Given the description of an element on the screen output the (x, y) to click on. 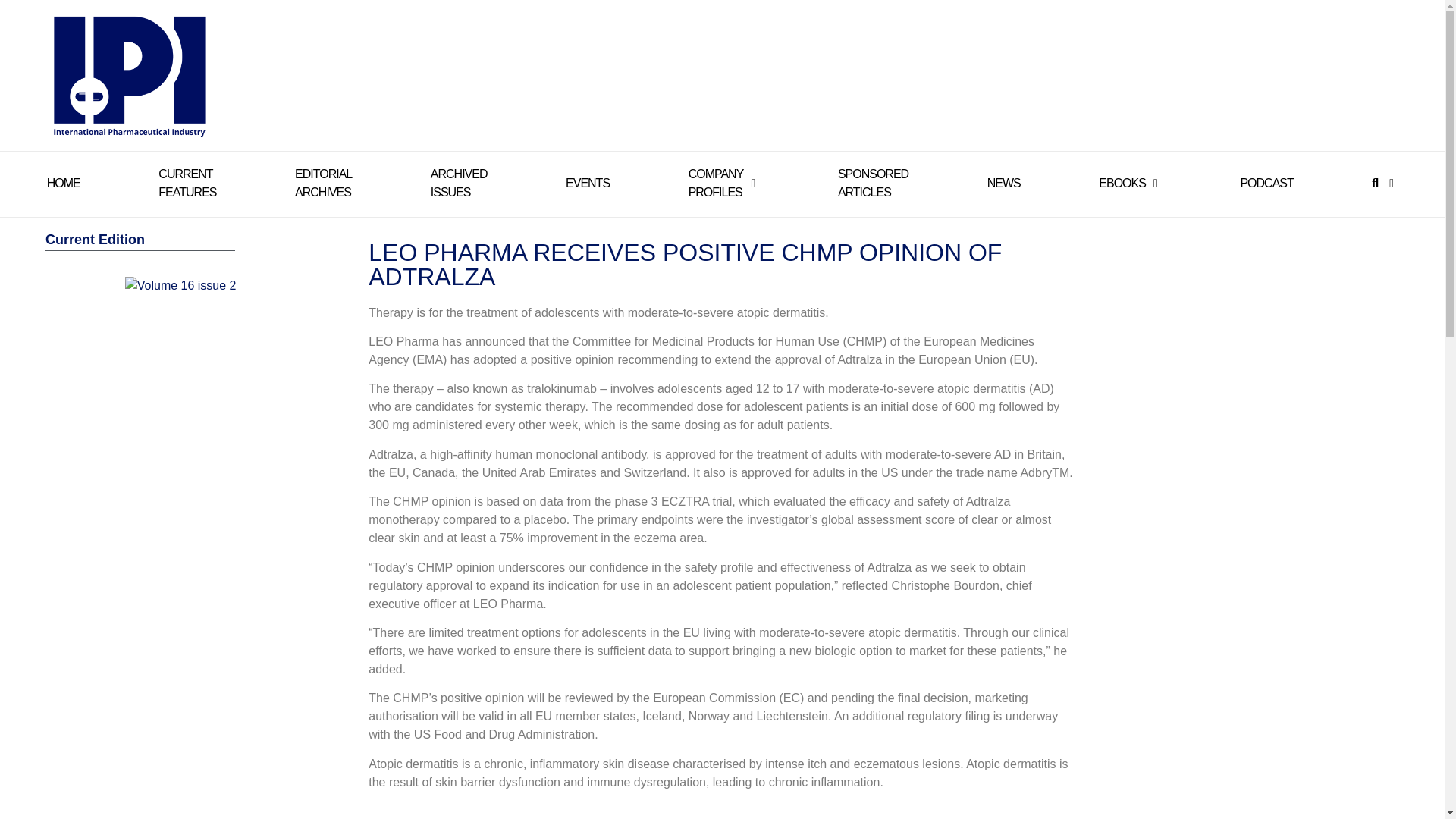
NEWS (458, 183)
PODCAST (1003, 183)
EVENTS (716, 183)
HOME (1266, 183)
Volume 16 issue 2 (323, 183)
